Given the description of an element on the screen output the (x, y) to click on. 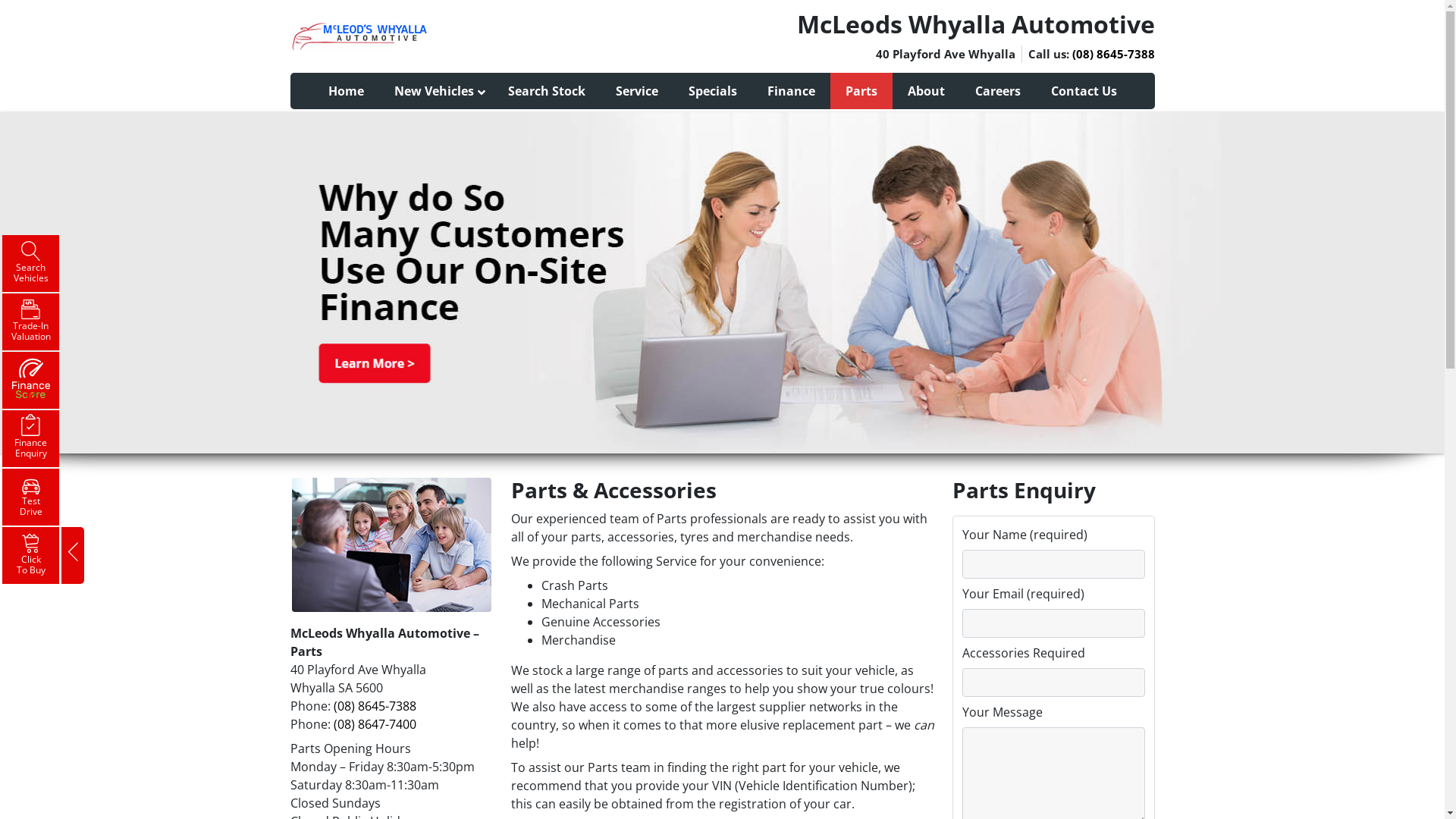
(08) 8645-7388 Element type: text (1113, 53)
(08) 8647-7400 Element type: text (374, 723)
New Vehicles Element type: text (435, 90)
Contact Us Element type: text (1083, 90)
Home Element type: text (345, 90)
Parts Element type: text (860, 90)
Search
Vehicles Element type: text (30, 263)
Search Stock Element type: text (546, 90)
Test
Drive Element type: text (30, 496)
Click
To Buy Element type: text (30, 555)
Finance
Enquiry Element type: text (30, 438)
Careers Element type: text (997, 90)
(08) 8645-7388 Element type: text (374, 705)
Specials Element type: text (712, 90)
About Element type: text (925, 90)
Trade-In
Valuation Element type: text (30, 321)
Finance Element type: text (791, 90)
Service Element type: text (636, 90)
